Given the description of an element on the screen output the (x, y) to click on. 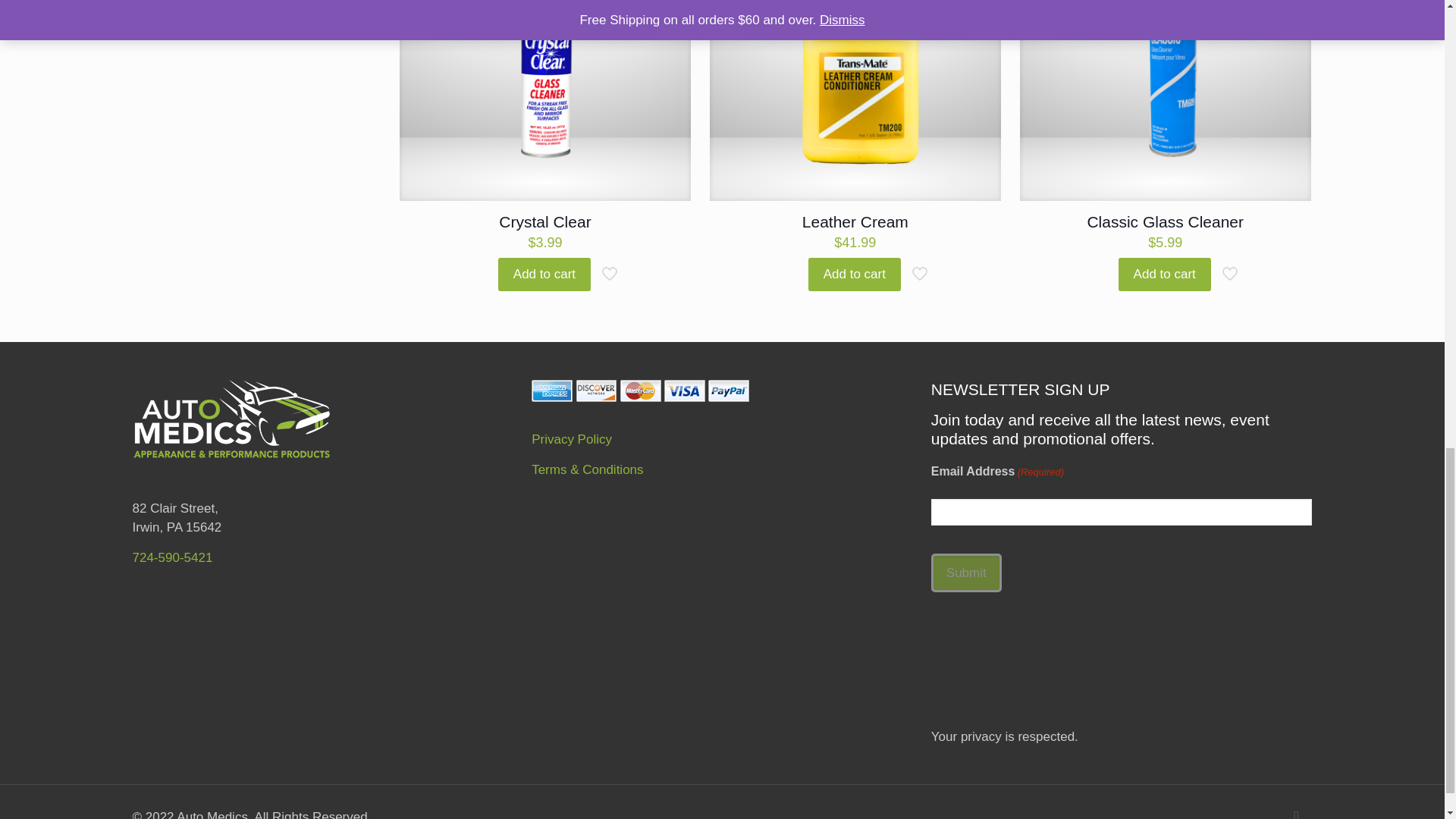
Crystal Clear (545, 221)
Submit (966, 572)
Add to cart (544, 274)
